Given the description of an element on the screen output the (x, y) to click on. 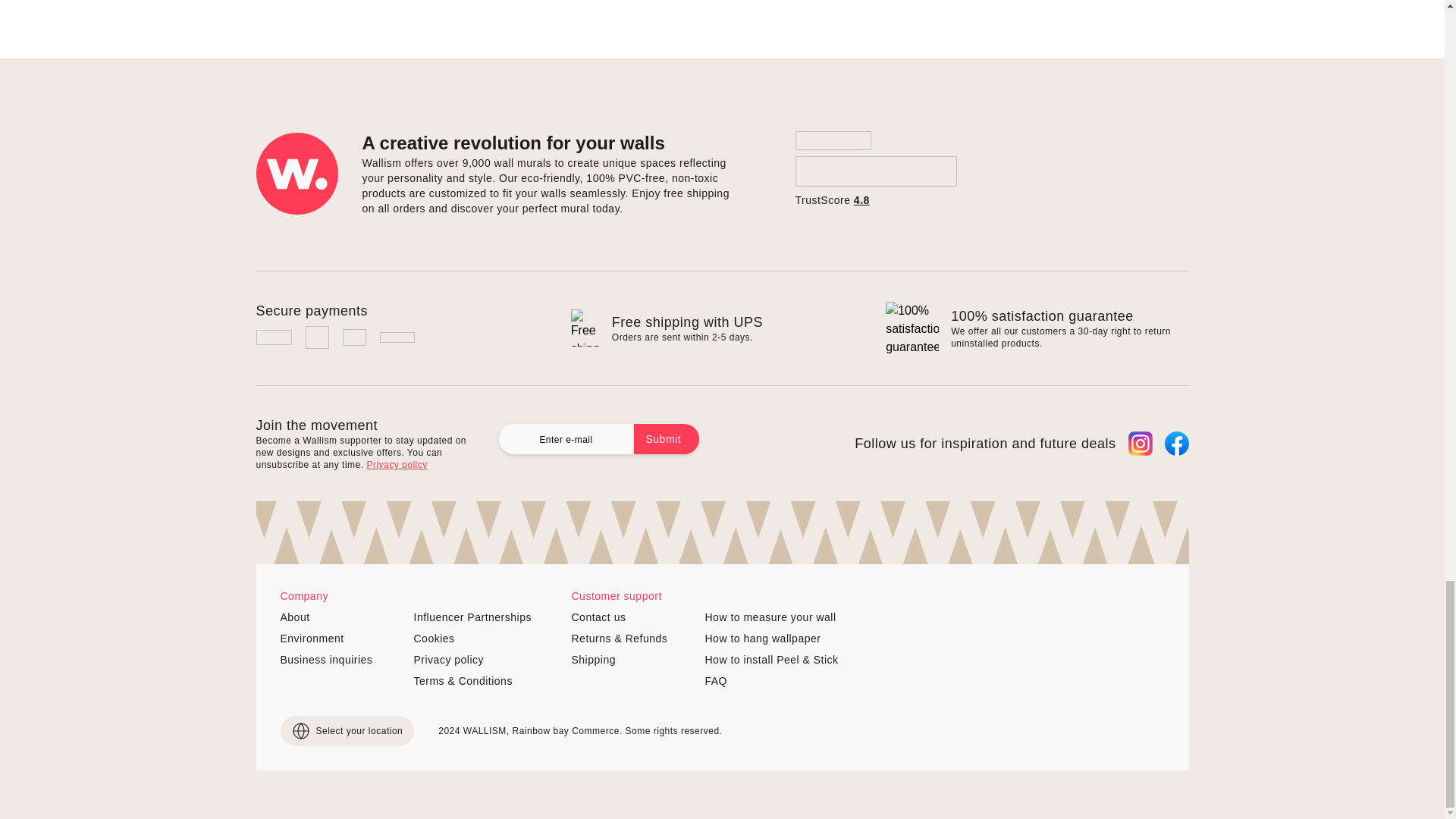
Privacy policy (396, 464)
Submit (666, 439)
TrustScore 4.8 (875, 169)
